Given the description of an element on the screen output the (x, y) to click on. 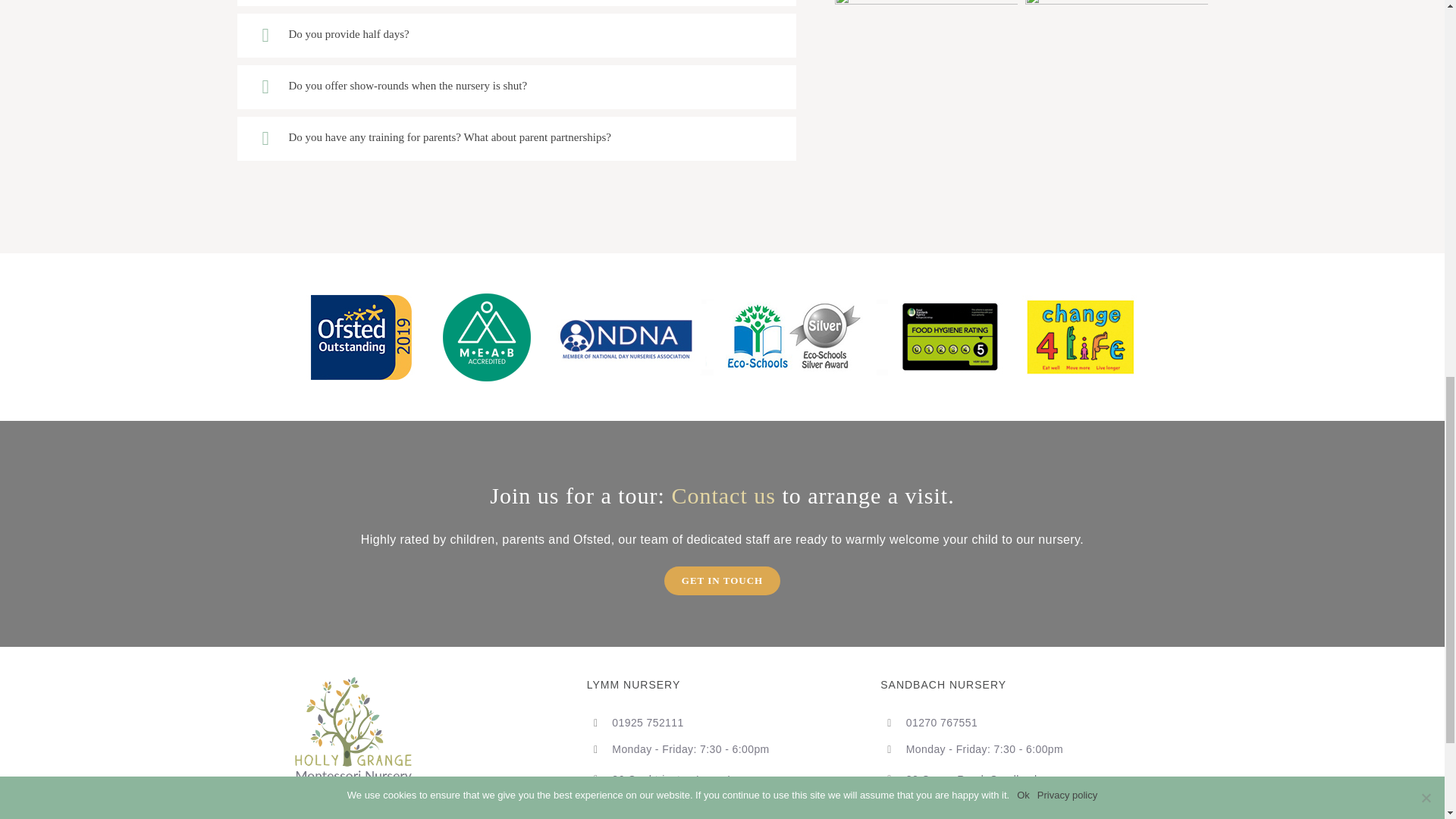
Do you provide half days? (514, 35)
hgm-accreditations-banner-2020.2 (722, 336)
hgm09 (1116, 53)
hgm08 (925, 53)
